Given the description of an element on the screen output the (x, y) to click on. 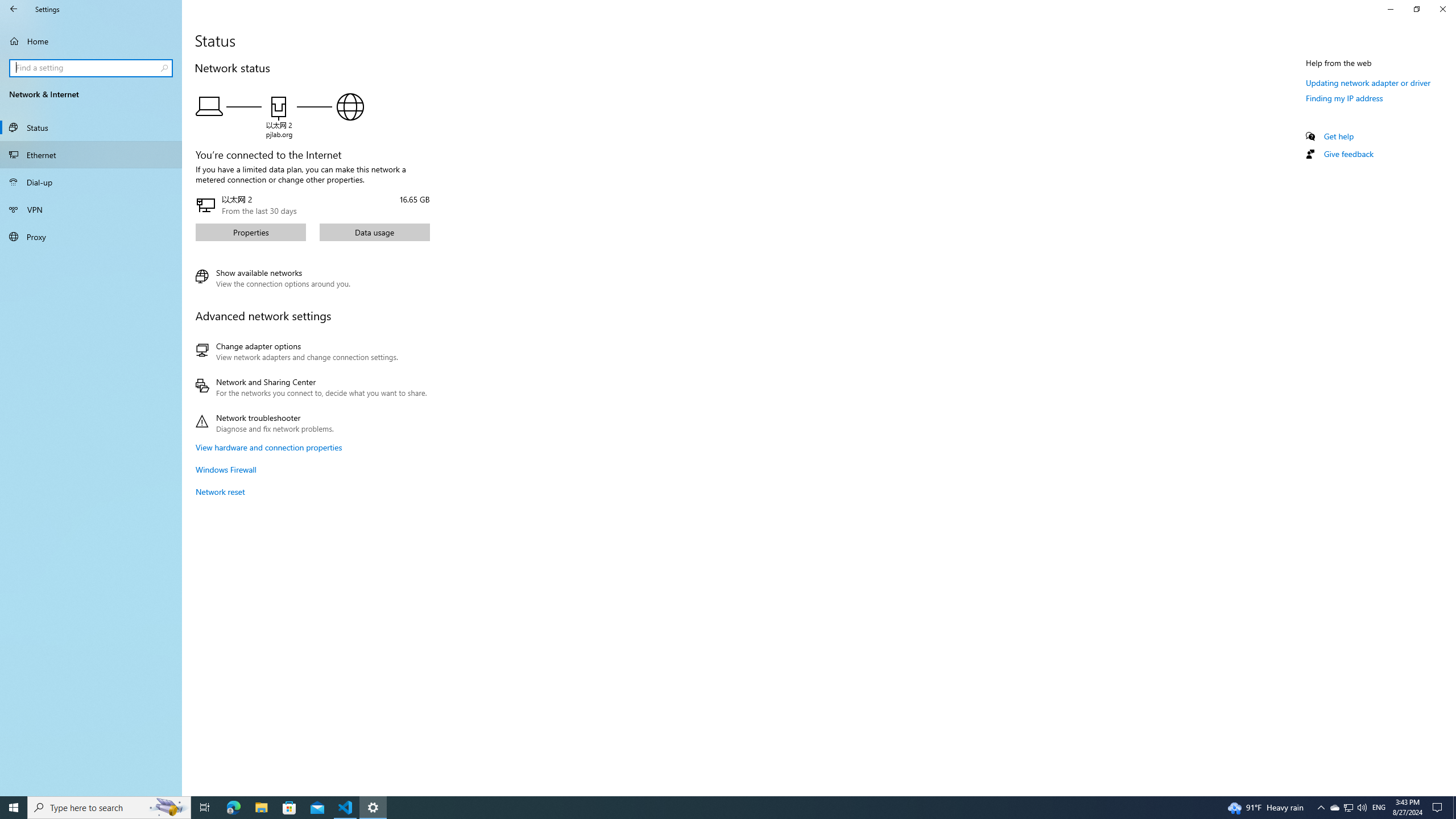
View hardware and connection properties (268, 447)
Restore Settings (1416, 9)
Network troubleshooter (311, 423)
Search box, Find a setting (91, 67)
Change adapter options (311, 351)
VPN (91, 208)
